Given the description of an element on the screen output the (x, y) to click on. 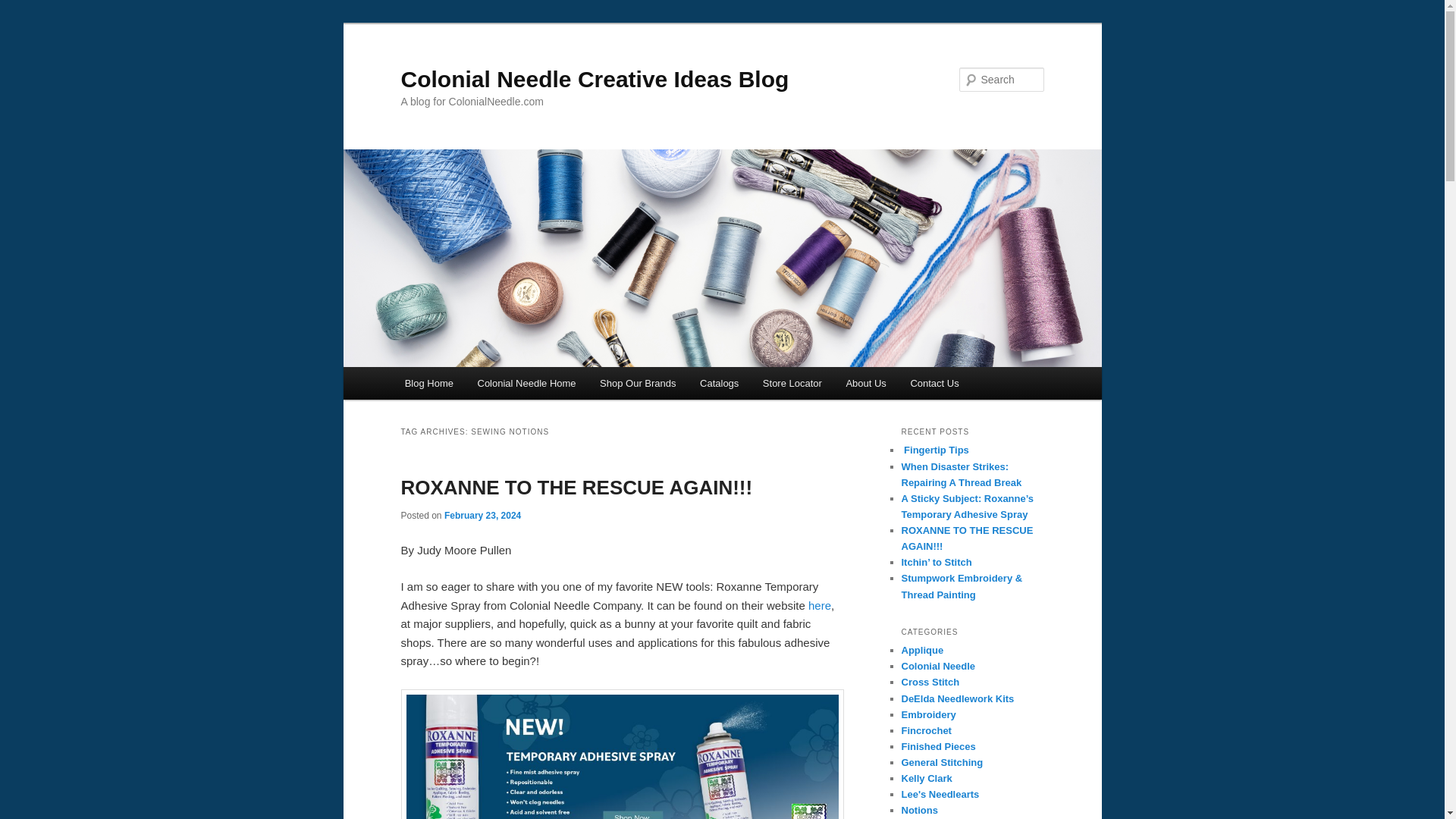
February 23, 2024 (482, 515)
Colonial Needle Home (526, 382)
Contact Us (934, 382)
Search (24, 8)
here (819, 604)
Store Locator (792, 382)
Blog Home (429, 382)
Catalogs (719, 382)
Shop Our Brands (637, 382)
12:28 pm (482, 515)
Colonial Needle Creative Ideas Blog (594, 78)
About Us (866, 382)
ROXANNE TO THE RESCUE AGAIN!!! (576, 486)
